Given the description of an element on the screen output the (x, y) to click on. 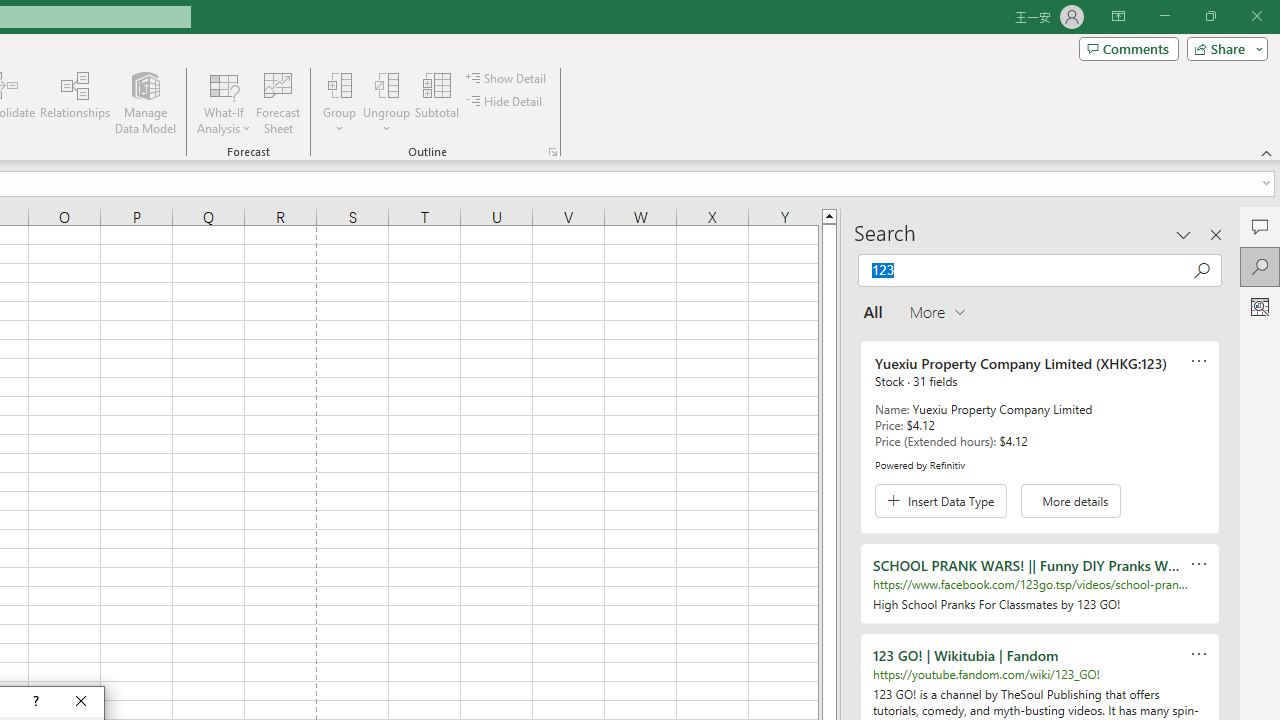
Context help (34, 701)
What-If Analysis (223, 102)
Relationships (75, 102)
Manage Data Model (145, 102)
Ungroup... (386, 84)
Close pane (1215, 234)
Group and Outline Settings (552, 151)
Restore Down (1210, 16)
Ungroup... (386, 102)
Hide Detail (505, 101)
